Given the description of an element on the screen output the (x, y) to click on. 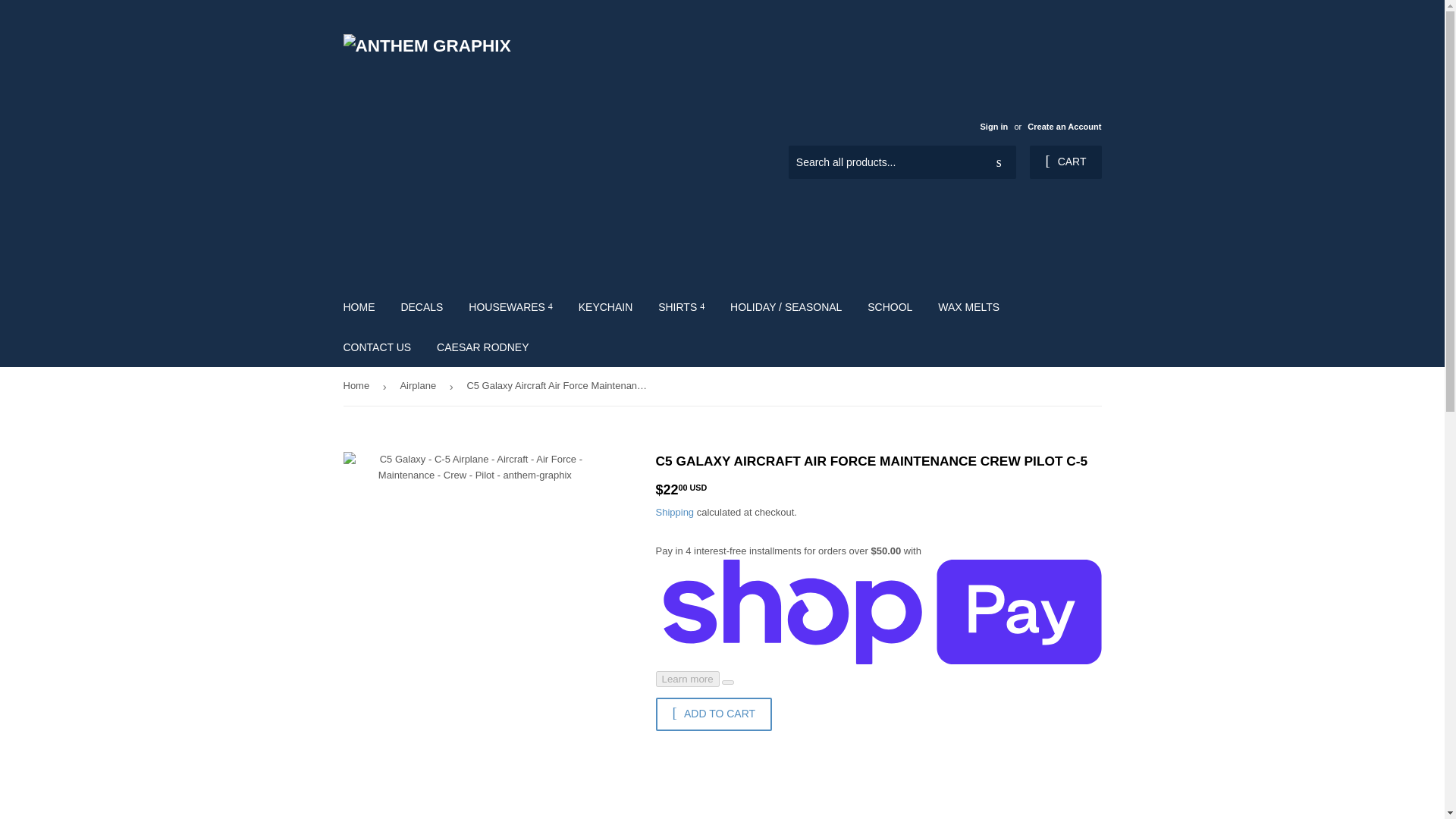
CART (1064, 162)
Create an Account (1063, 126)
Search (998, 163)
Sign in (993, 126)
